Given the description of an element on the screen output the (x, y) to click on. 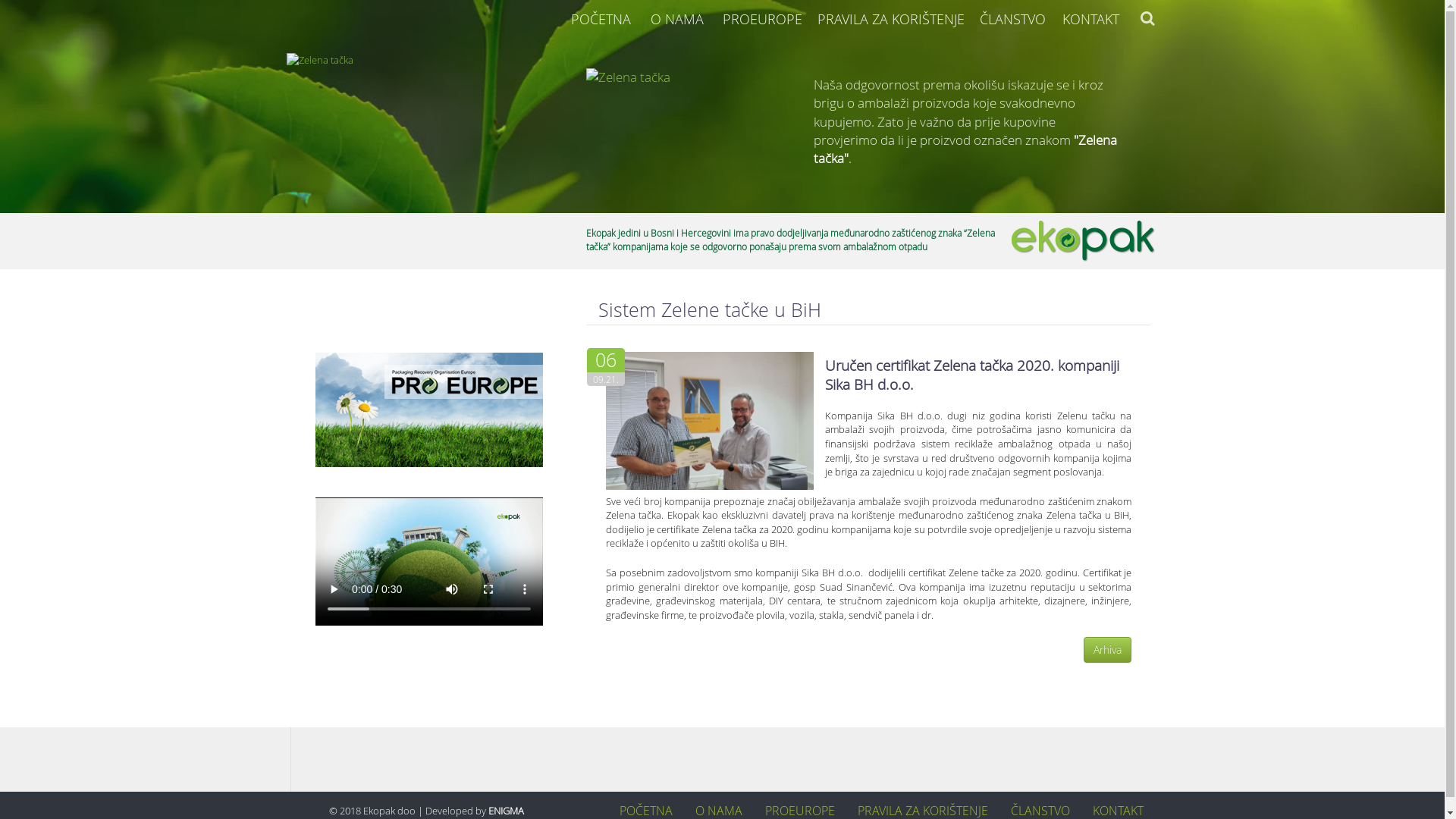
PROEUROPE Element type: text (761, 18)
O NAMA Element type: text (676, 18)
KONTAKT Element type: text (1090, 18)
KONTAKT Element type: text (1117, 810)
O NAMA Element type: text (718, 810)
ENIGMA Element type: text (506, 810)
Arhiva Element type: text (1107, 649)
PROEUROPE Element type: text (799, 810)
